Given the description of an element on the screen output the (x, y) to click on. 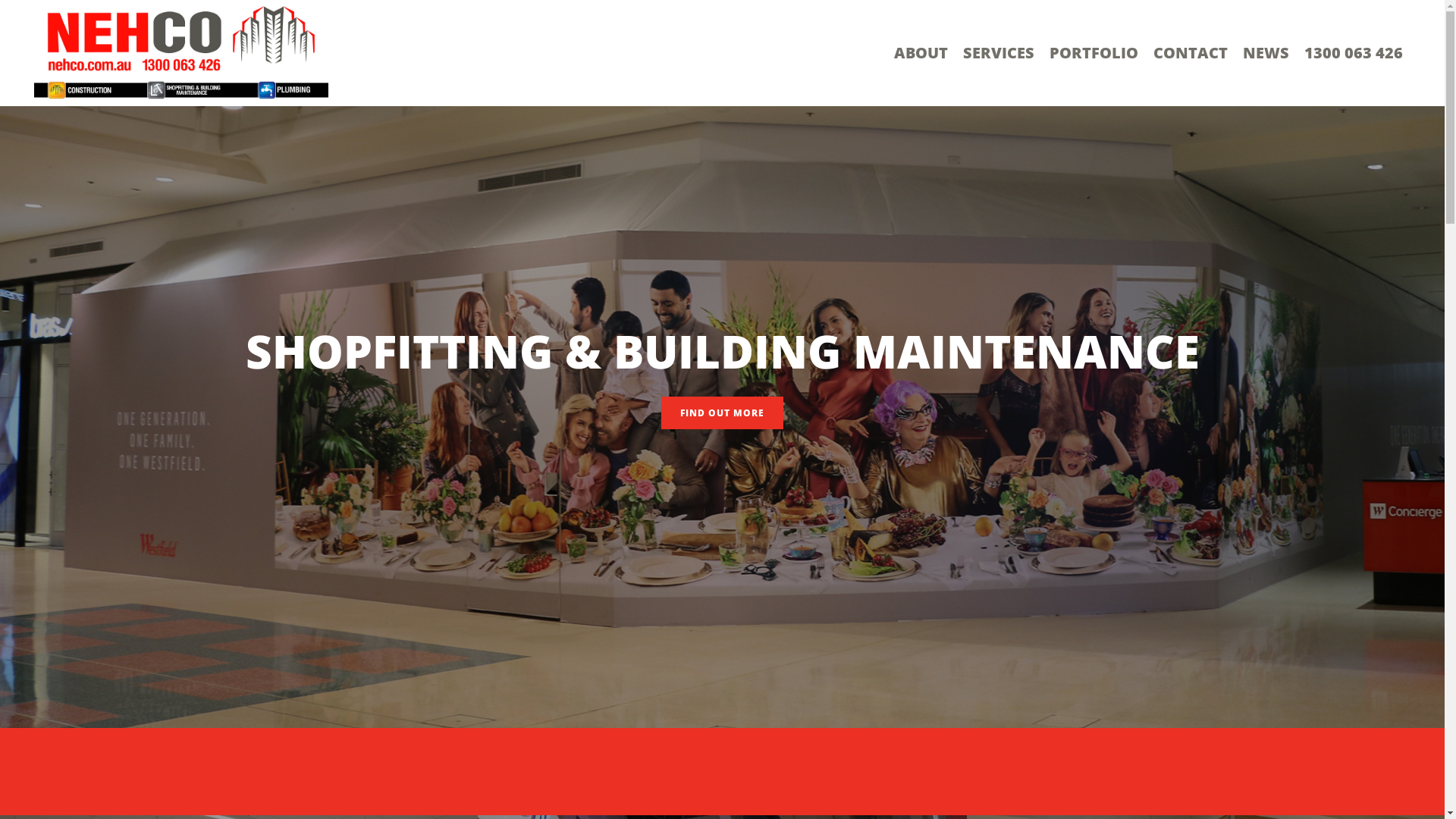
SERVICES Element type: text (998, 53)
ABOUT Element type: text (920, 53)
FIND OUT MORE Element type: text (722, 412)
CONTACT Element type: text (1190, 53)
PORTFOLIO Element type: text (1093, 53)
NEWS Element type: text (1265, 53)
1300 063 426 Element type: text (1353, 53)
